Given the description of an element on the screen output the (x, y) to click on. 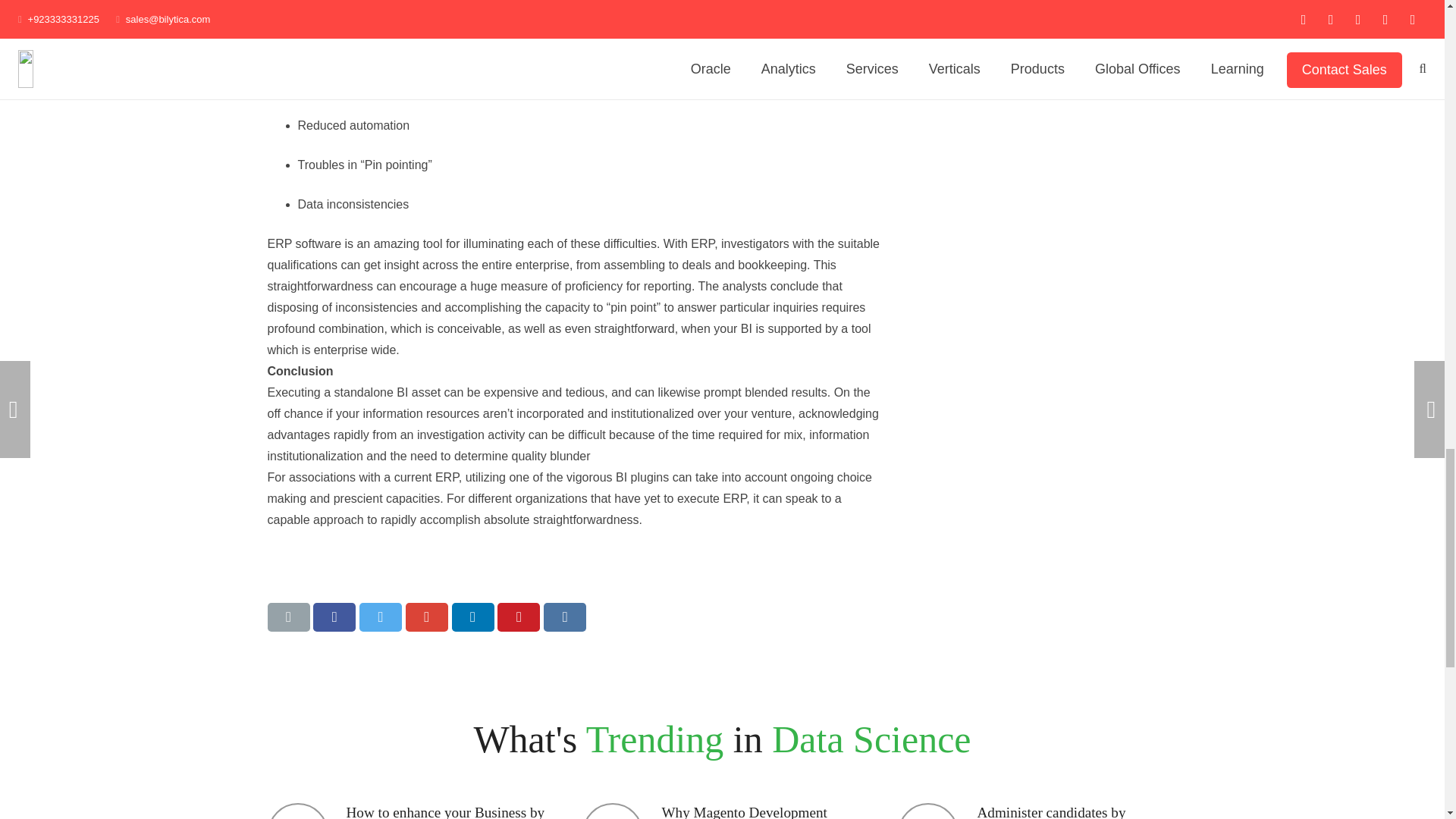
Share this (473, 616)
Pin this (518, 616)
Share this (427, 616)
Tweet this (380, 616)
Share this (564, 616)
Email this (287, 616)
Share this (334, 616)
